Given the description of an element on the screen output the (x, y) to click on. 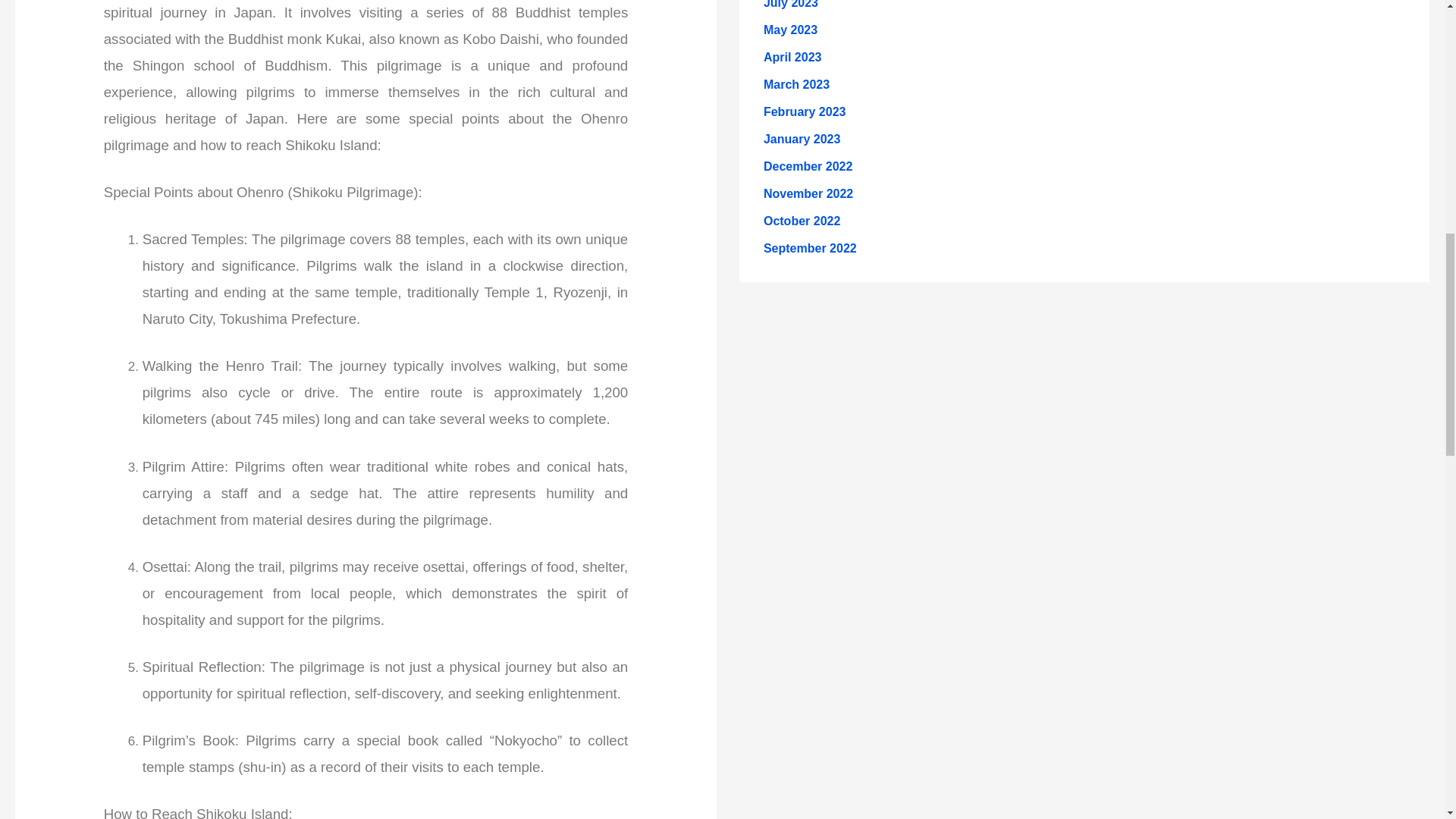
February 2023 (803, 111)
July 2023 (790, 4)
March 2023 (795, 83)
April 2023 (791, 56)
May 2023 (789, 29)
